Given the description of an element on the screen output the (x, y) to click on. 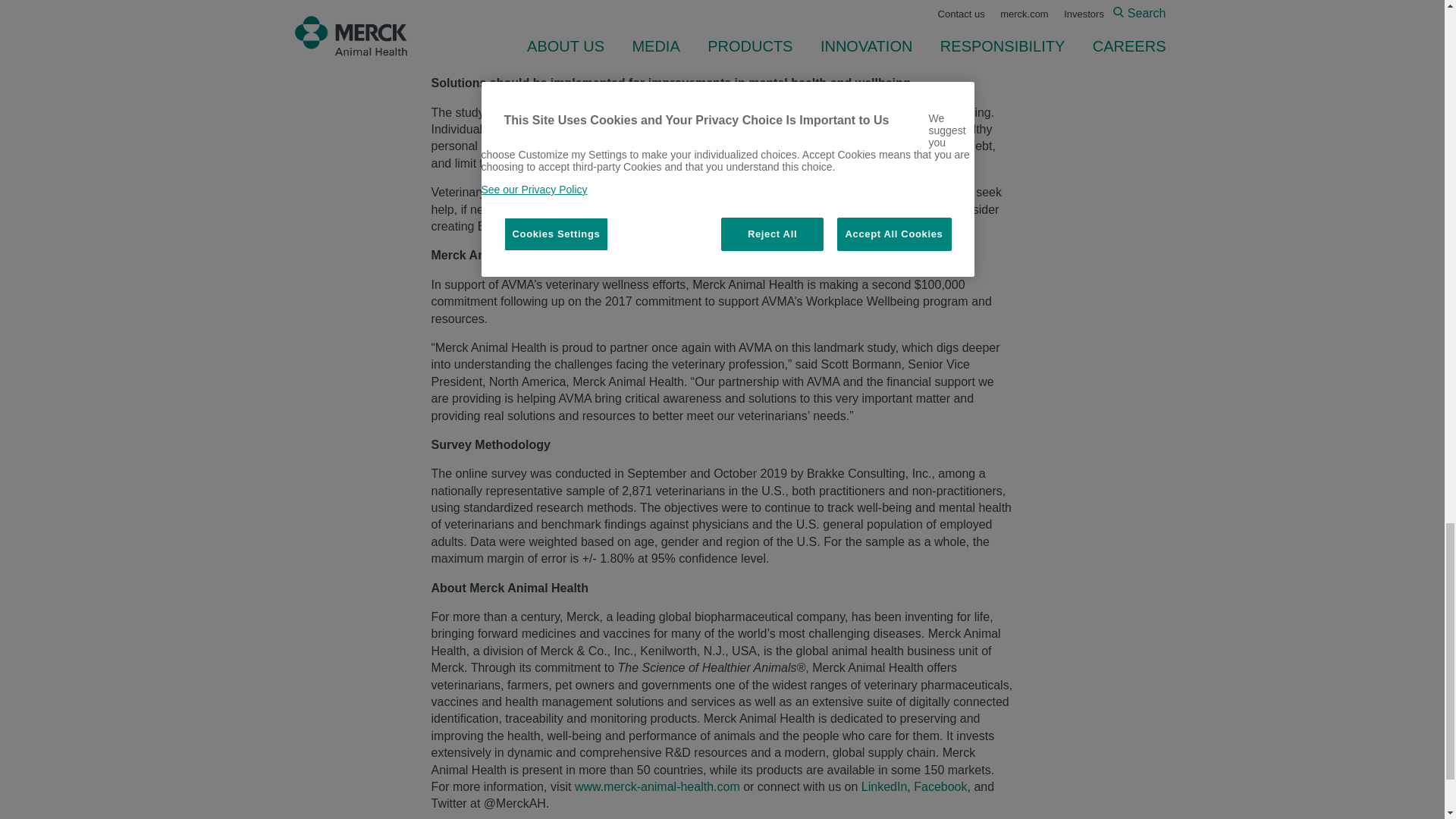
Facebook (940, 786)
LinkedIn (884, 786)
www.merck-animal-health.com (657, 786)
